Given the description of an element on the screen output the (x, y) to click on. 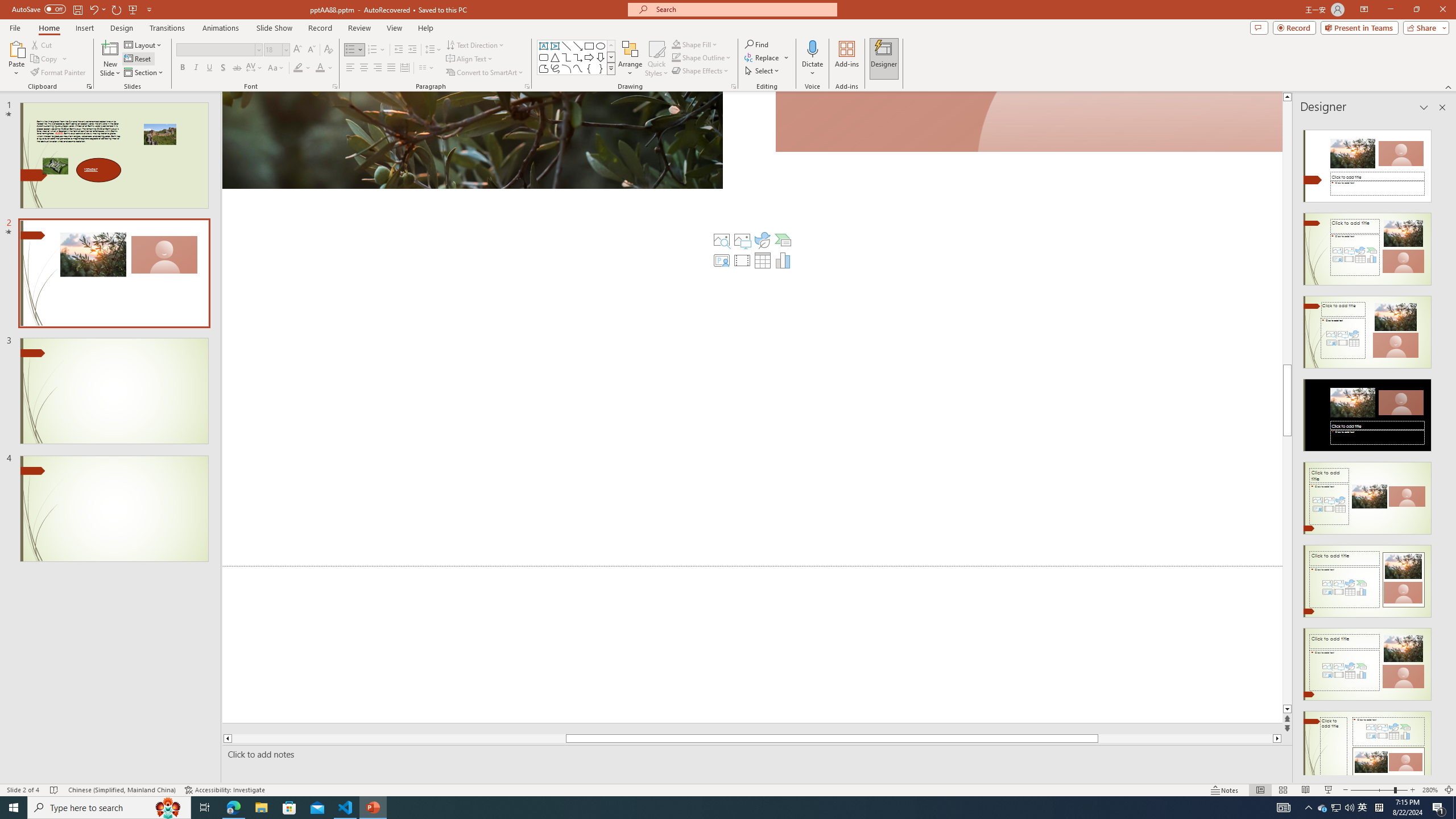
Content Placeholder (752, 328)
